Given the description of an element on the screen output the (x, y) to click on. 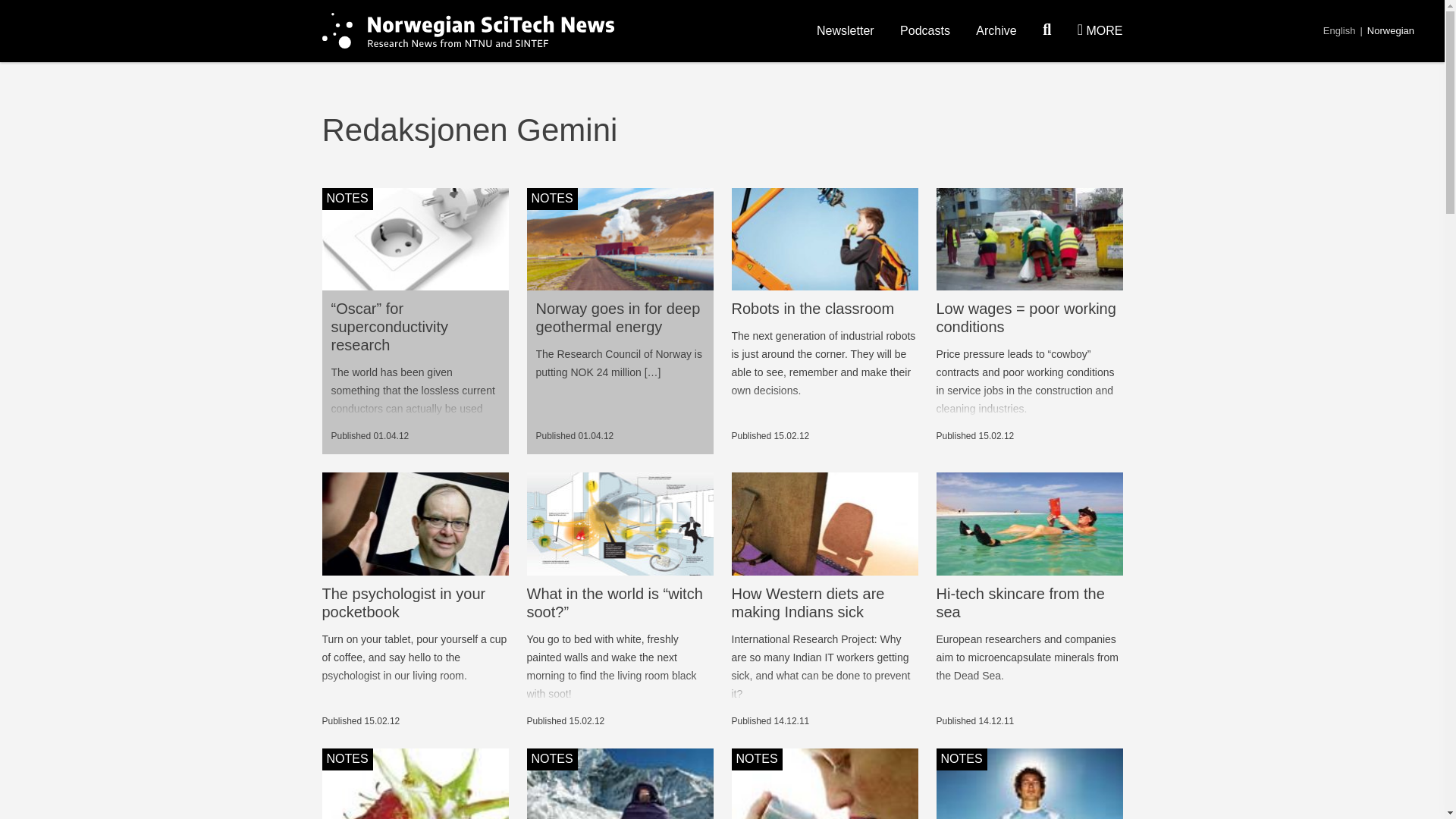
Change page language to Norwegian (1390, 30)
Archive (995, 31)
The psychologist in your pocketbook (402, 602)
NOTES (619, 239)
Podcasts (924, 31)
NOTES (414, 239)
Norway goes in for deep geothermal energy (617, 317)
Norwegian (1390, 30)
Robots in the classroom (811, 308)
MORE (1099, 31)
Newsletter (845, 31)
